Given the description of an element on the screen output the (x, y) to click on. 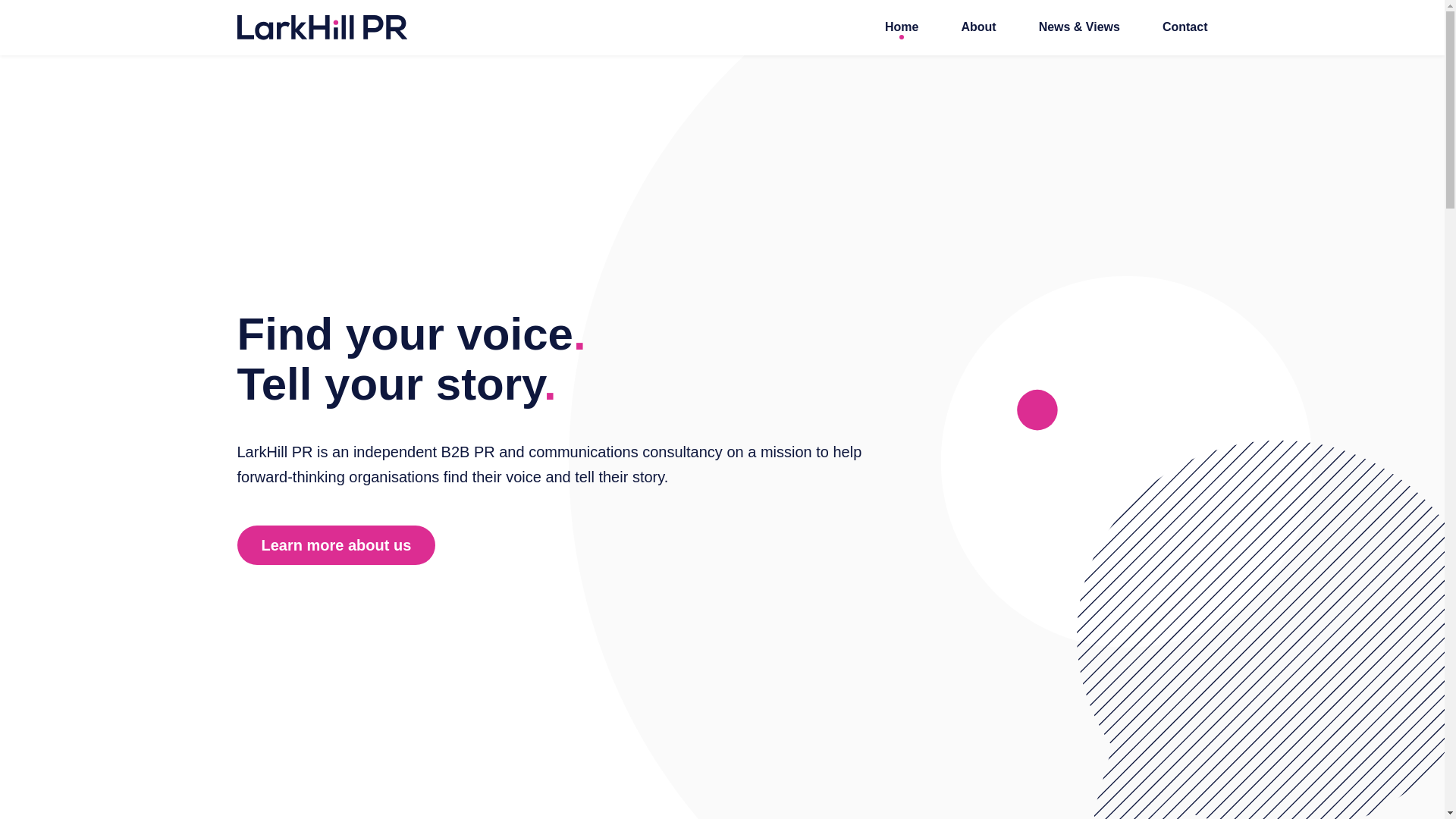
Learn more about us (335, 545)
Home (901, 26)
About (977, 26)
Contact (1184, 26)
